Given the description of an element on the screen output the (x, y) to click on. 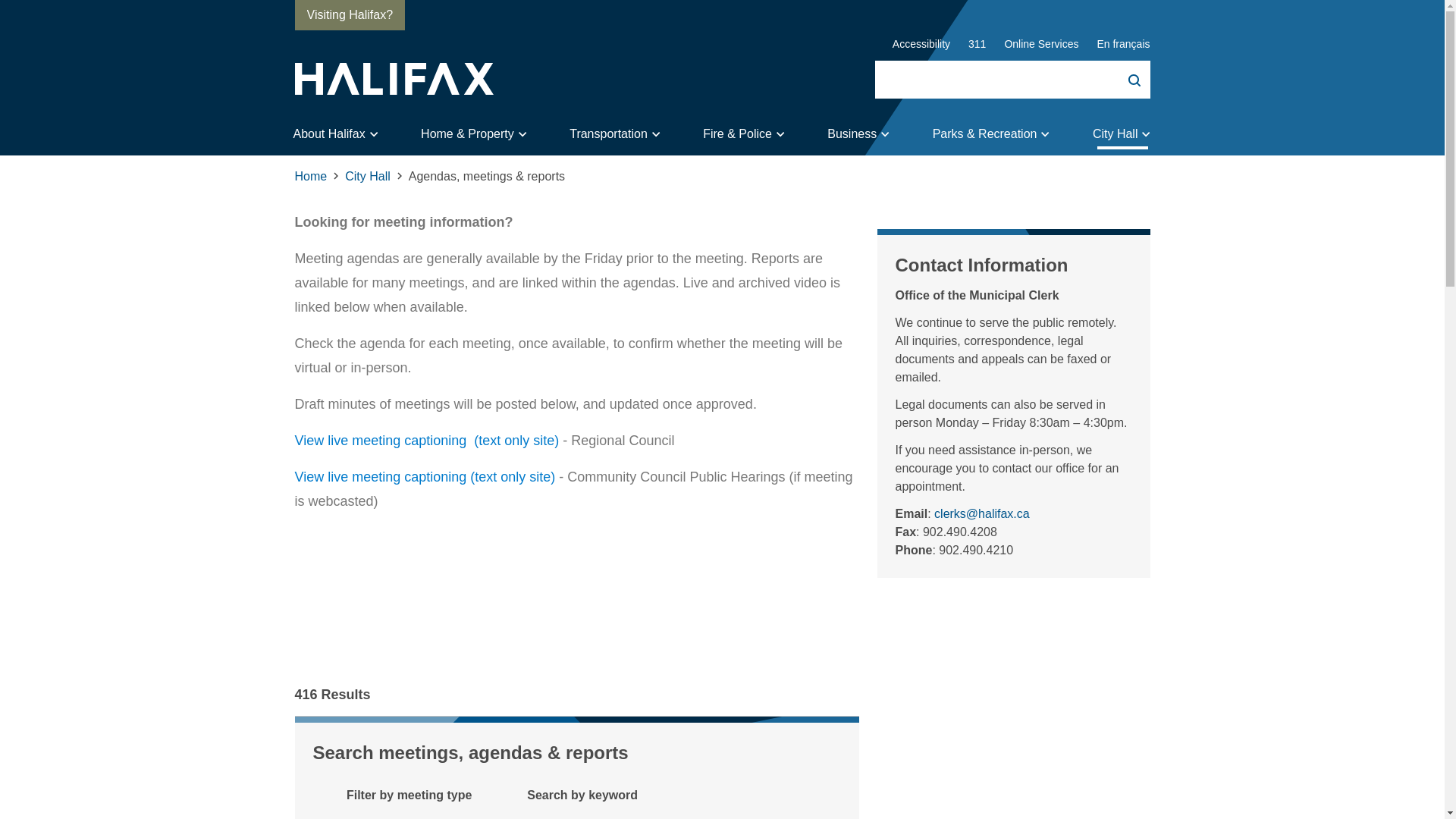
Visiting Halifax? (349, 14)
Search (1123, 78)
About Halifax (335, 134)
Back to home (393, 79)
Search (1123, 78)
Enter the terms you wish to search for. (1012, 79)
Transportation (617, 134)
